Given the description of an element on the screen output the (x, y) to click on. 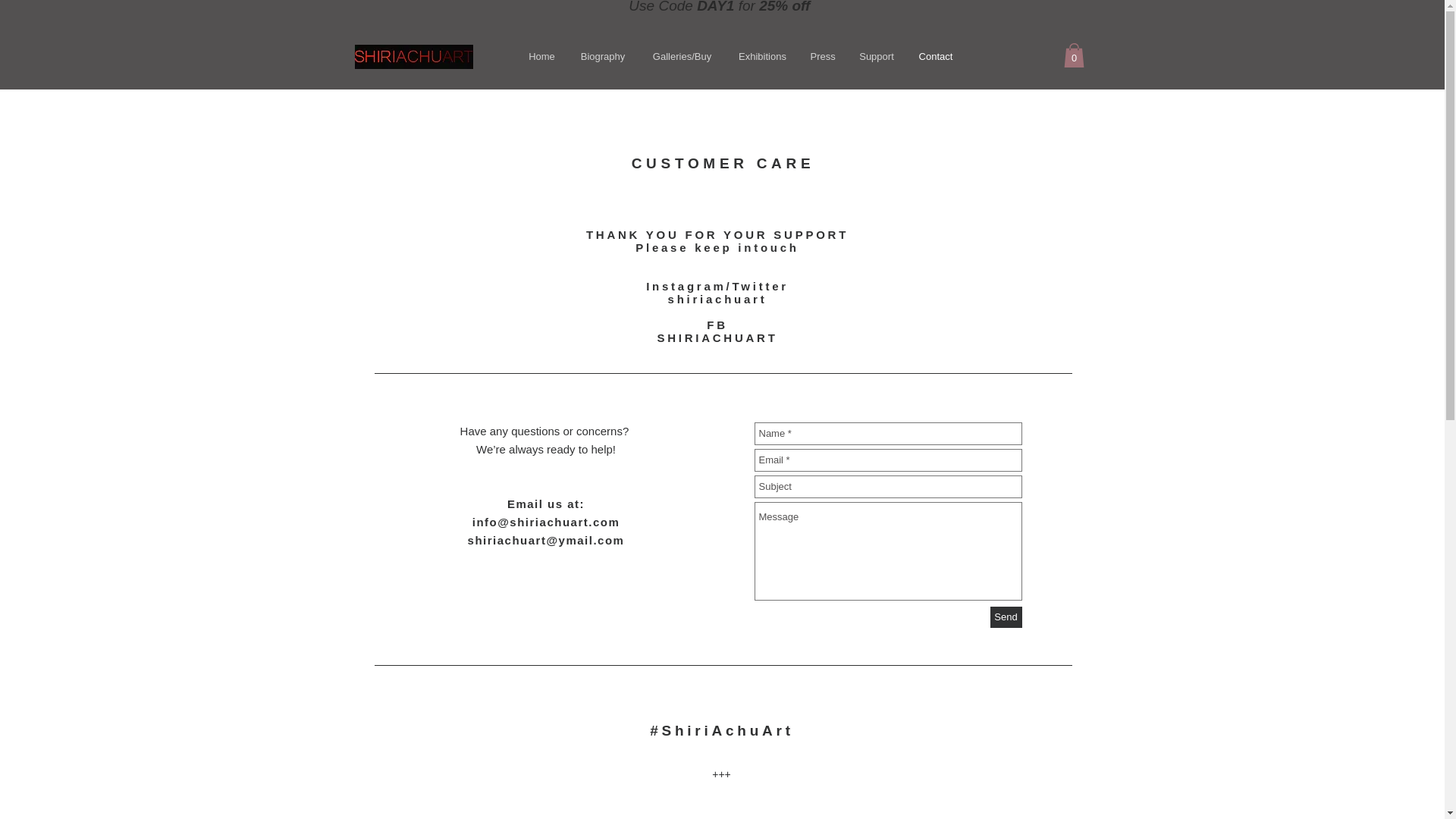
Press (823, 56)
Home (541, 56)
Send (1006, 617)
Exhibitions (762, 56)
Contact (936, 56)
Support (875, 56)
Biography (602, 56)
